Given the description of an element on the screen output the (x, y) to click on. 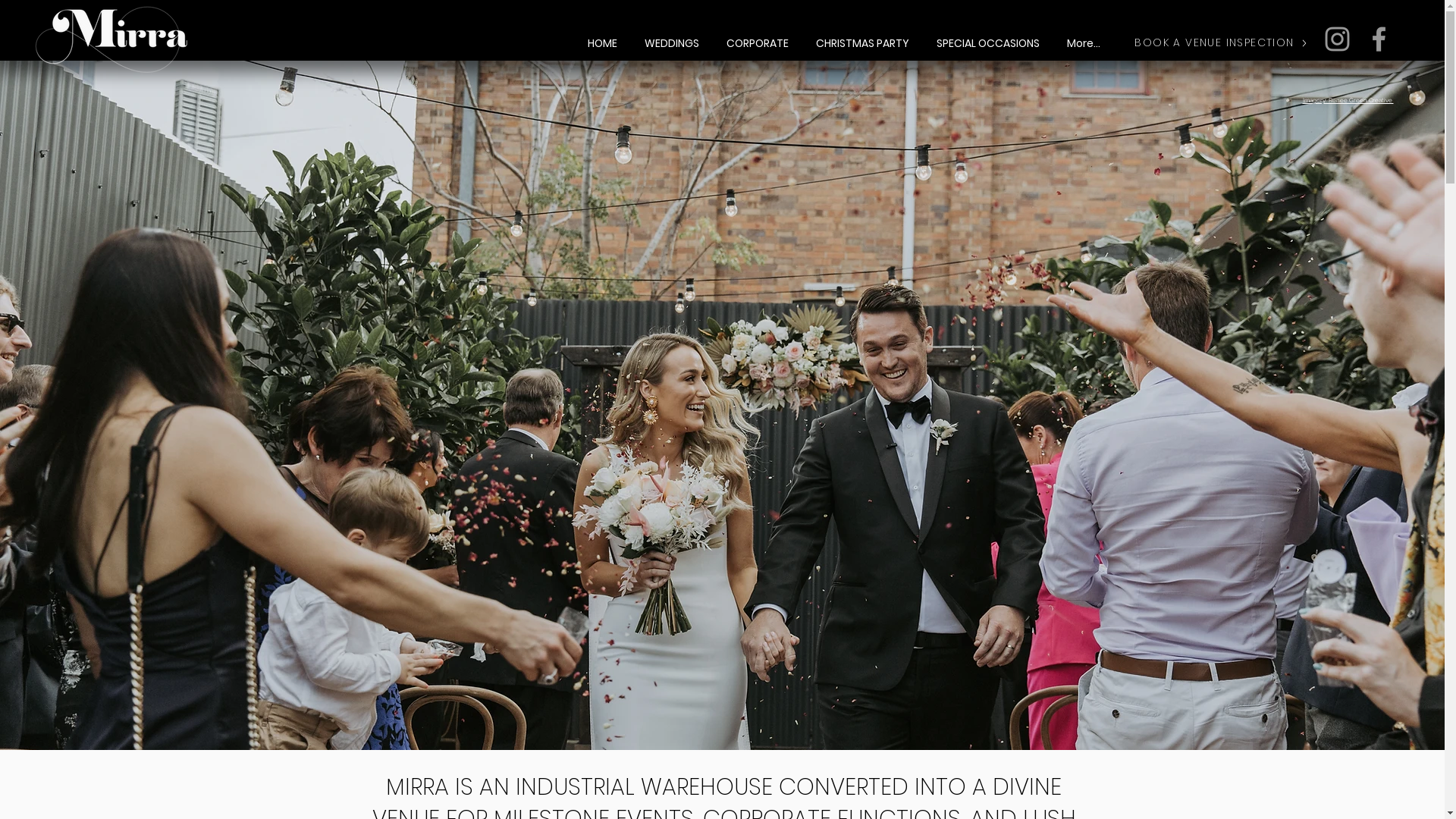
BOOK A VENUE INSPECTION Element type: text (1220, 42)
WEDDINGS Element type: text (671, 36)
Imagery: Renee Green Creative  Element type: text (1347, 100)
HOME Element type: text (601, 36)
CORPORATE Element type: text (757, 36)
SPECIAL OCCASIONS Element type: text (987, 36)
CHRISTMAS PARTY Element type: text (862, 36)
